Given the description of an element on the screen output the (x, y) to click on. 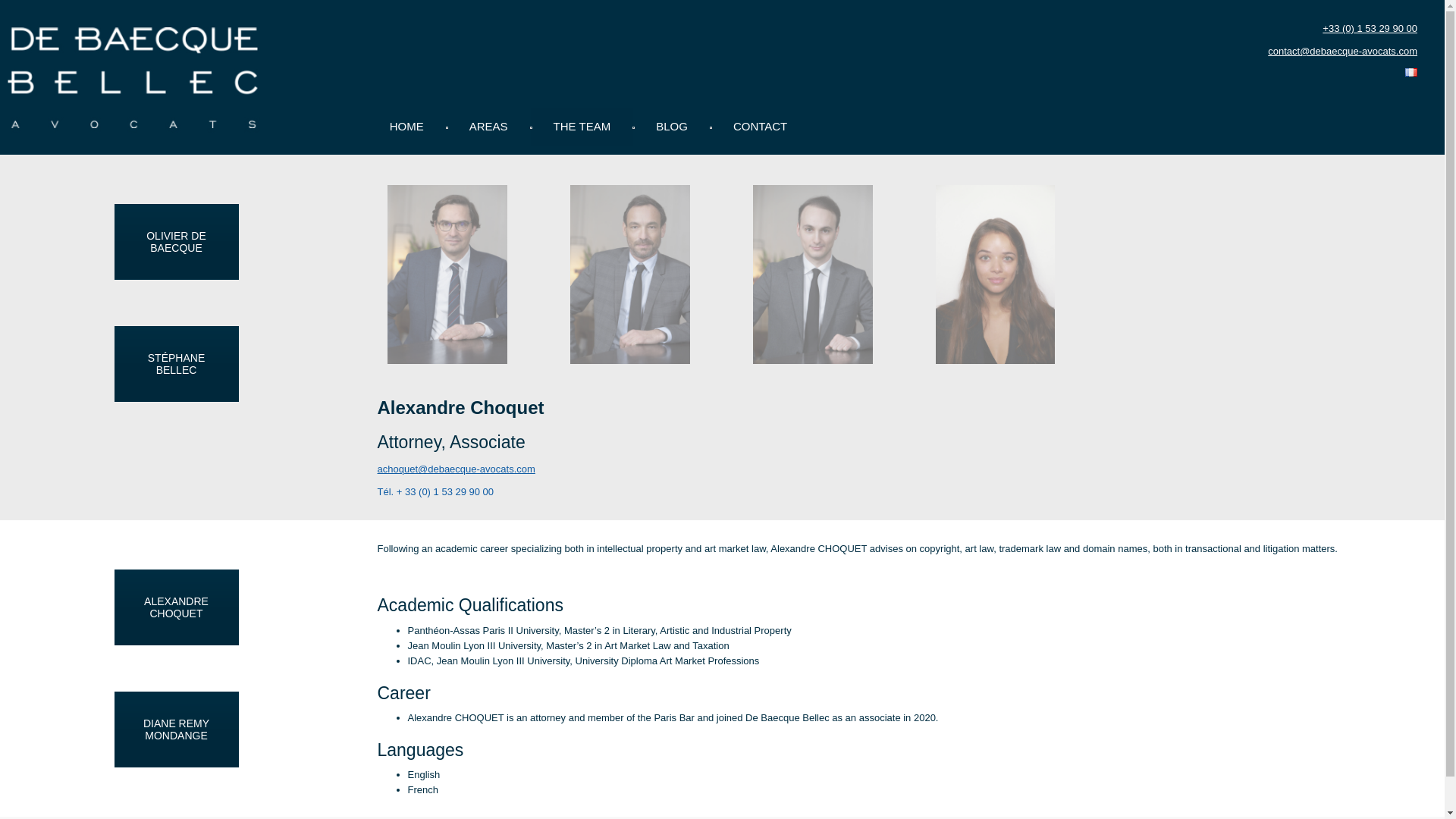
ALEXANDRE CHOQUET (175, 607)
HOME (406, 126)
Diane Remy Mondange (175, 729)
DIANE REMY MONDANGE (175, 729)
THE TEAM (582, 126)
OLIVIER DE BAECQUE (175, 241)
Alexandre Choquet (812, 274)
BLOG (671, 126)
Diane Remy Mondange (994, 274)
Olivier DE BAECQUE (447, 274)
CONTACT (759, 126)
AREAS (488, 126)
